Given the description of an element on the screen output the (x, y) to click on. 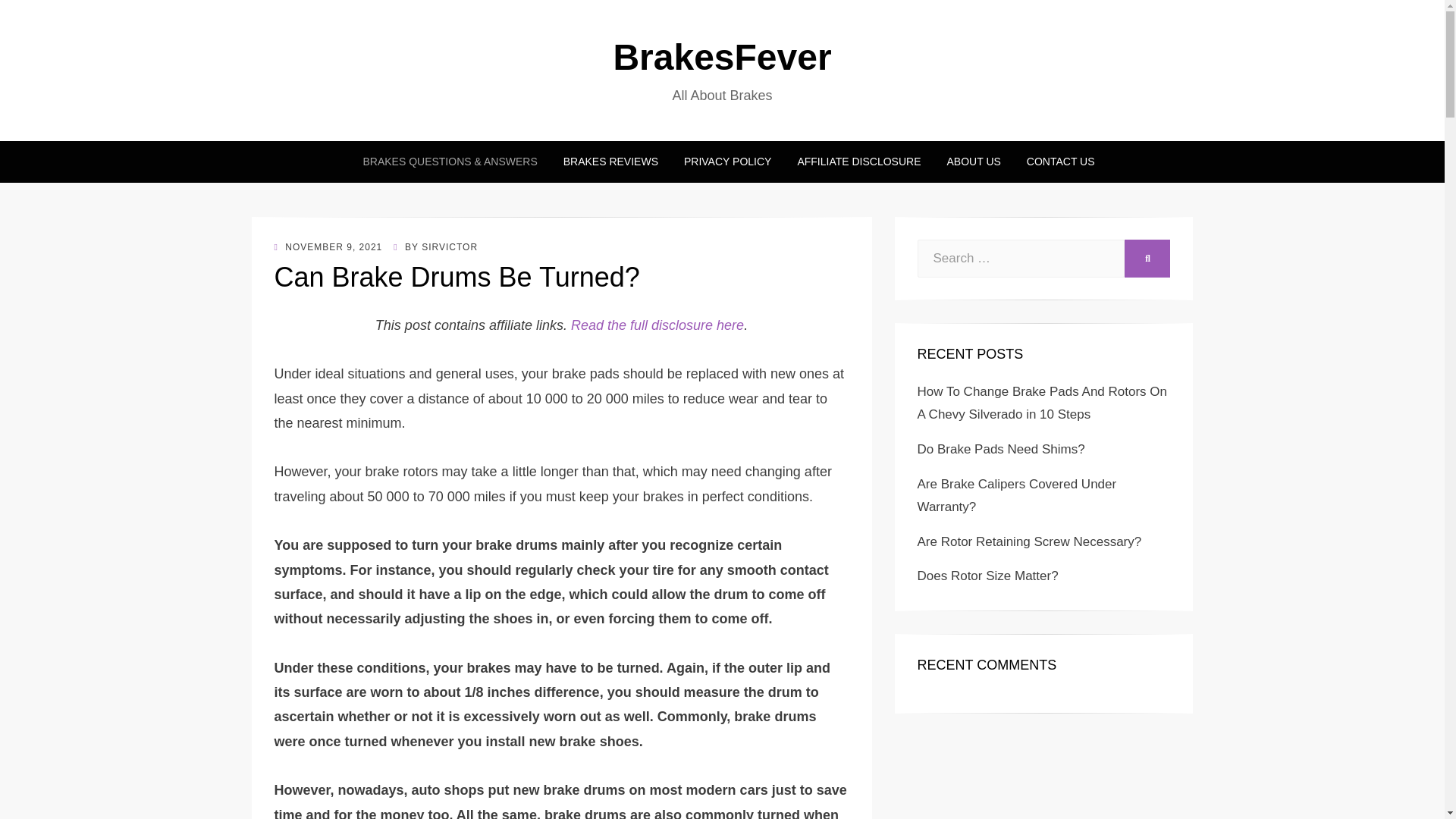
BrakesFever (721, 56)
Are Rotor Retaining Screw Necessary? (1029, 541)
ABOUT US (973, 161)
SIRVICTOR (449, 246)
NOVEMBER 9, 2021 (328, 246)
Search for: (1021, 258)
Do Brake Pads Need Shims? (1000, 449)
BRAKES REVIEWS (610, 161)
AFFILIATE DISCLOSURE (858, 161)
Read the full disclosure here (657, 324)
